Given the description of an element on the screen output the (x, y) to click on. 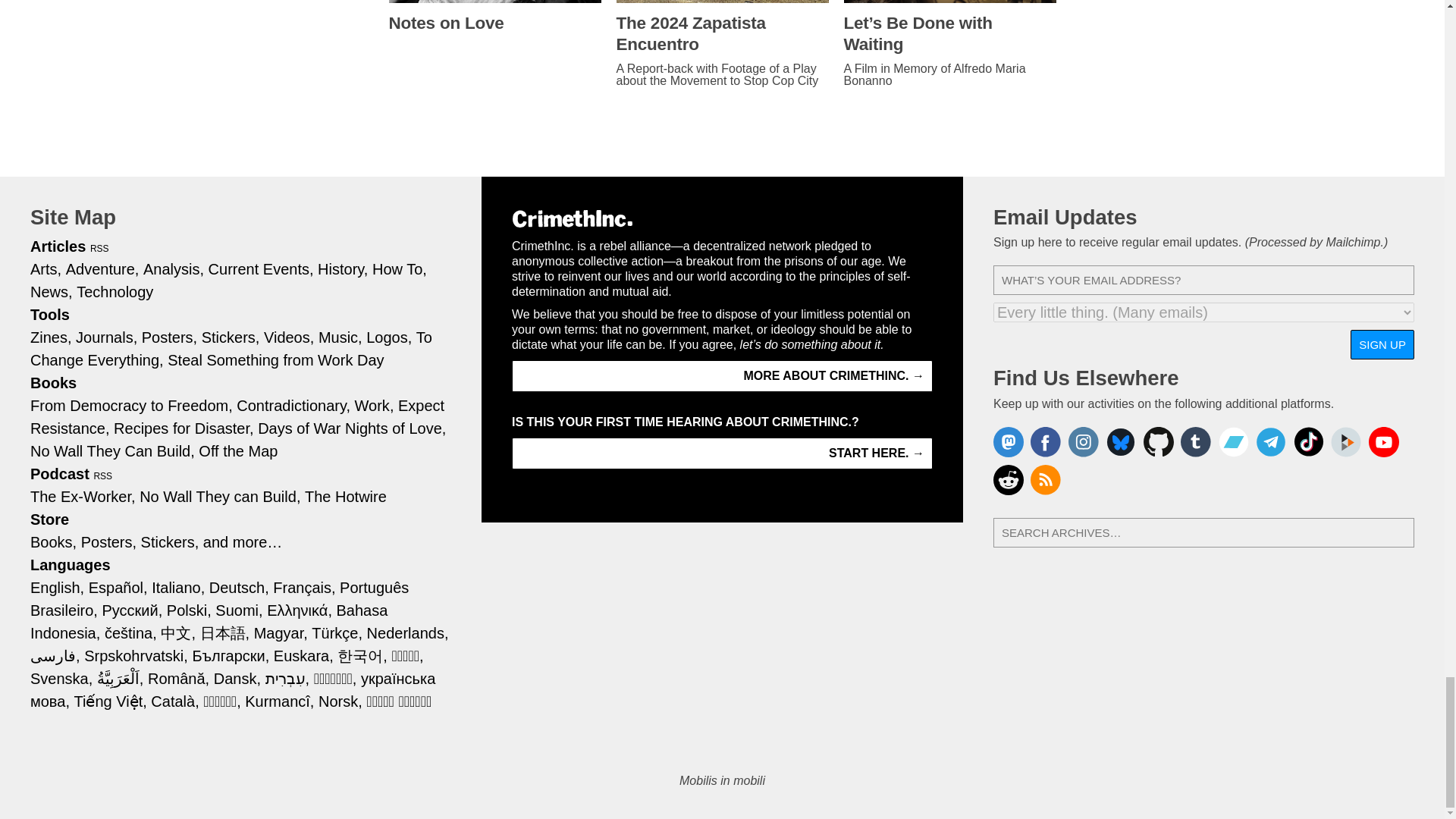
Notes on Love (493, 23)
The 2024 Zapatista Encuentro (721, 34)
